Given the description of an element on the screen output the (x, y) to click on. 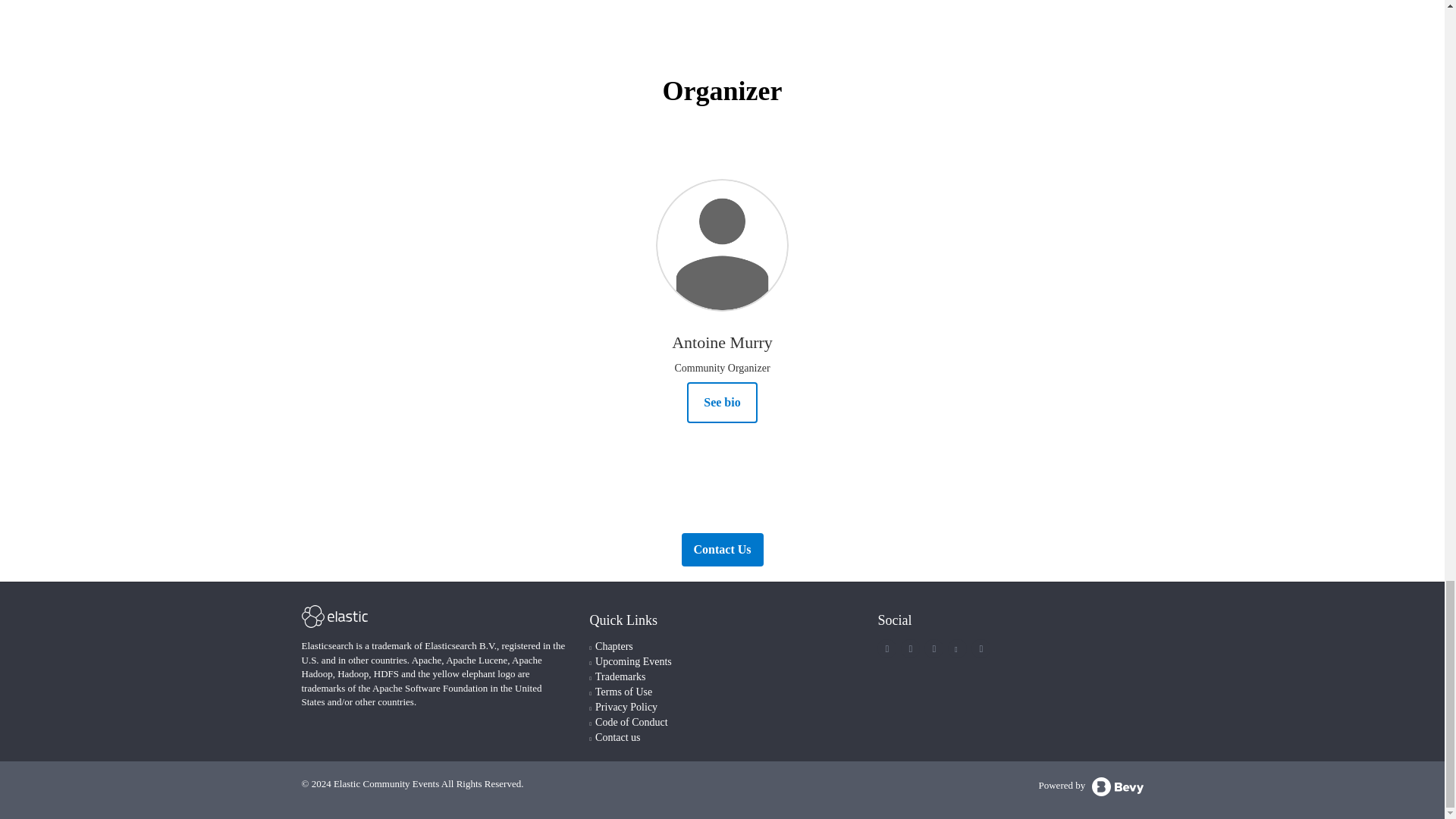
See bio (722, 402)
Trademarks (620, 676)
Code of Conduct (631, 722)
LinkedIn (933, 648)
Upcoming Events (633, 661)
Contact us (617, 737)
Privacy Policy (626, 706)
Powered by (1090, 786)
Chapters (614, 645)
Facebook (910, 648)
X (886, 648)
YouTube (956, 648)
GitHub (981, 648)
Terms of Use (623, 691)
